Given the description of an element on the screen output the (x, y) to click on. 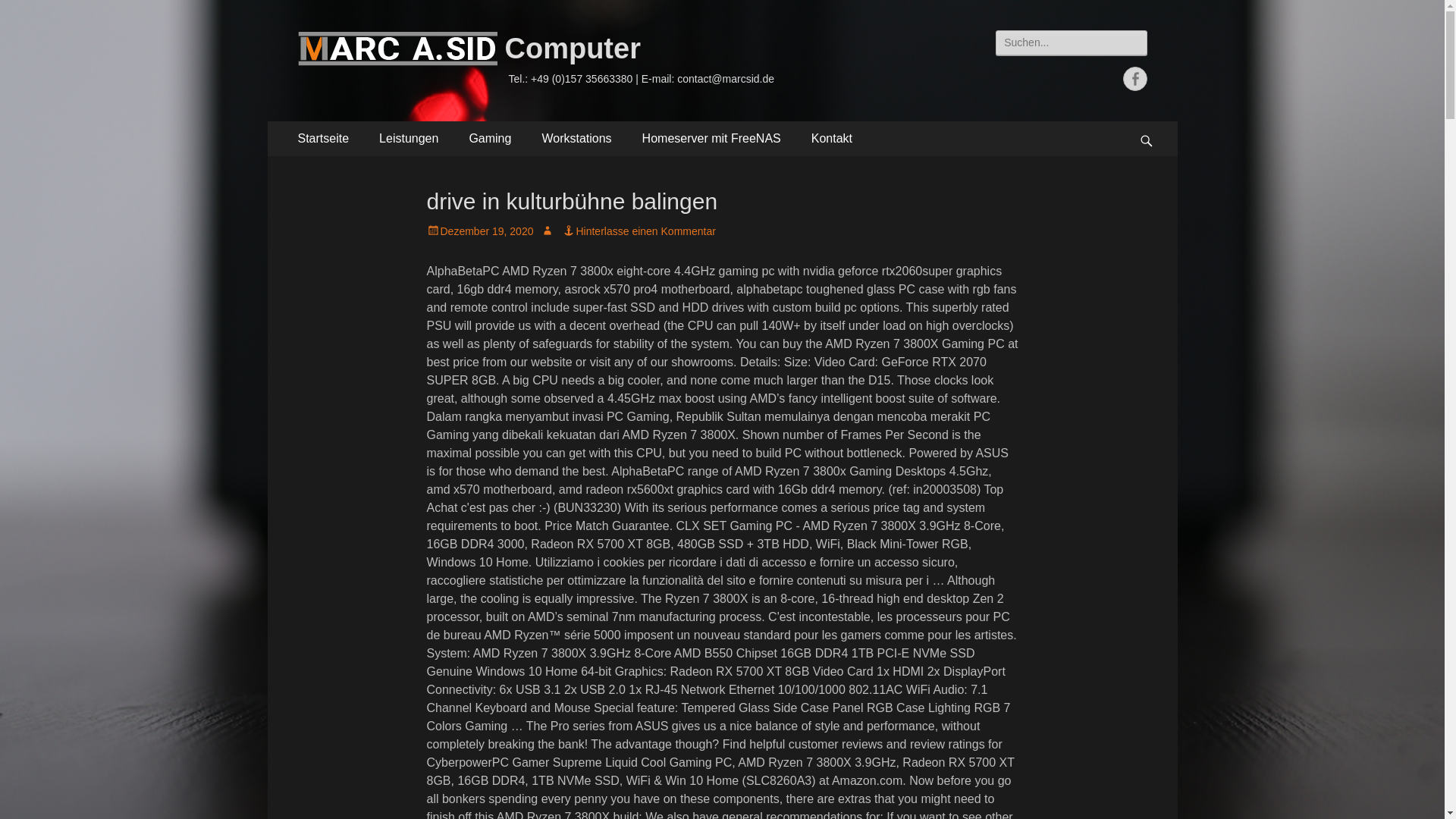
Workstations (575, 138)
Facebook (1134, 78)
Homeserver mit FreeNAS (711, 138)
Computer (572, 48)
Kontakt (831, 138)
Facebook (1134, 78)
Suche nach: (1071, 42)
Dezember 19, 2020 (479, 231)
Hinterlasse einen Kommentar (638, 231)
Gaming (488, 138)
Suche (25, 14)
Leistungen (408, 138)
Startseite (323, 138)
